Given the description of an element on the screen output the (x, y) to click on. 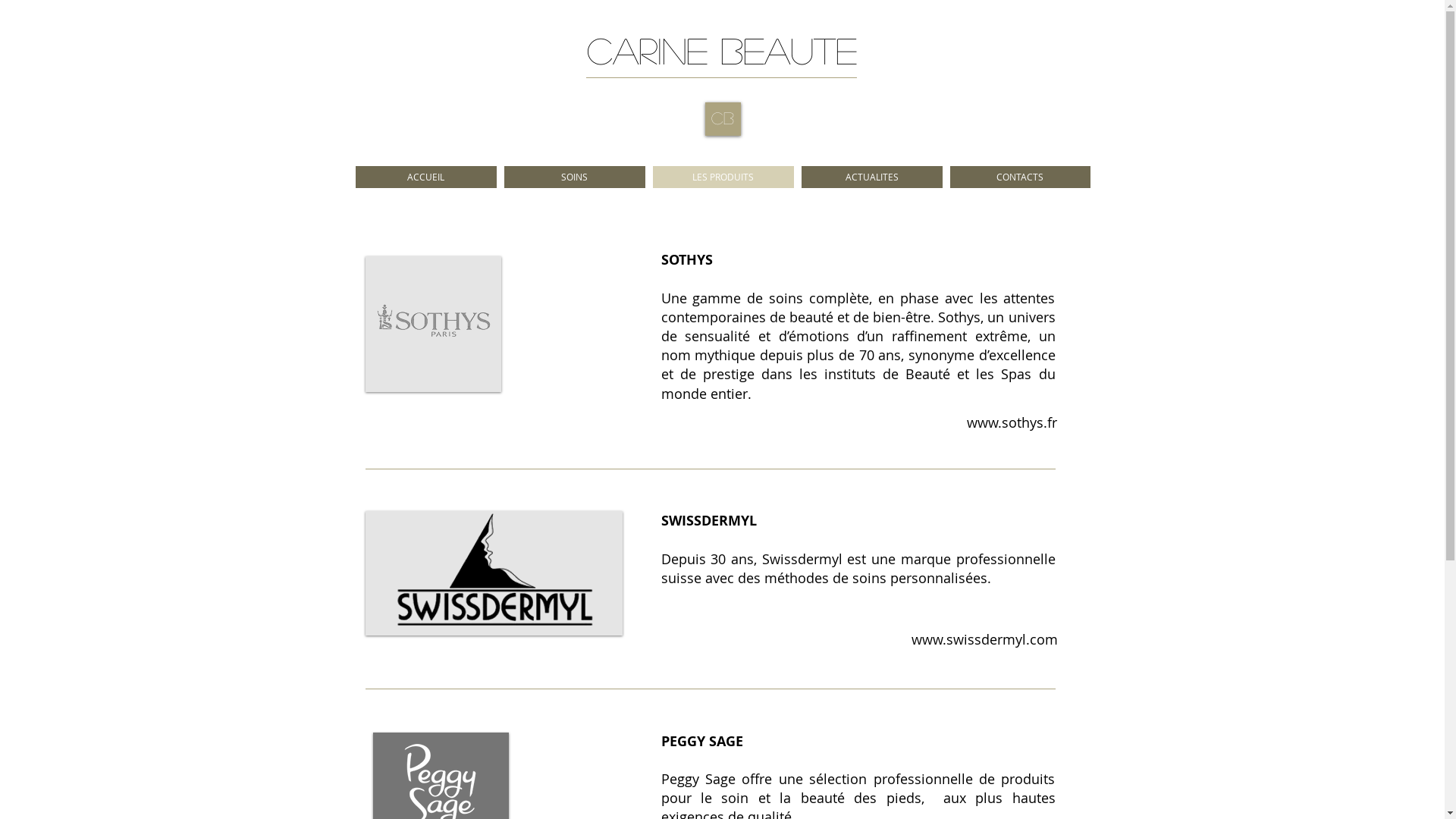
CONTACTS Element type: text (1019, 177)
LES PRODUITS Element type: text (722, 177)
www.swissdermyl.com Element type: text (984, 639)
ACTUALITES Element type: text (870, 177)
ACCUEIL Element type: text (424, 177)
SOINS Element type: text (573, 177)
www.sothys.fr Element type: text (1011, 422)
Swissdermyl.jpg Element type: hover (493, 573)
